Given the description of an element on the screen output the (x, y) to click on. 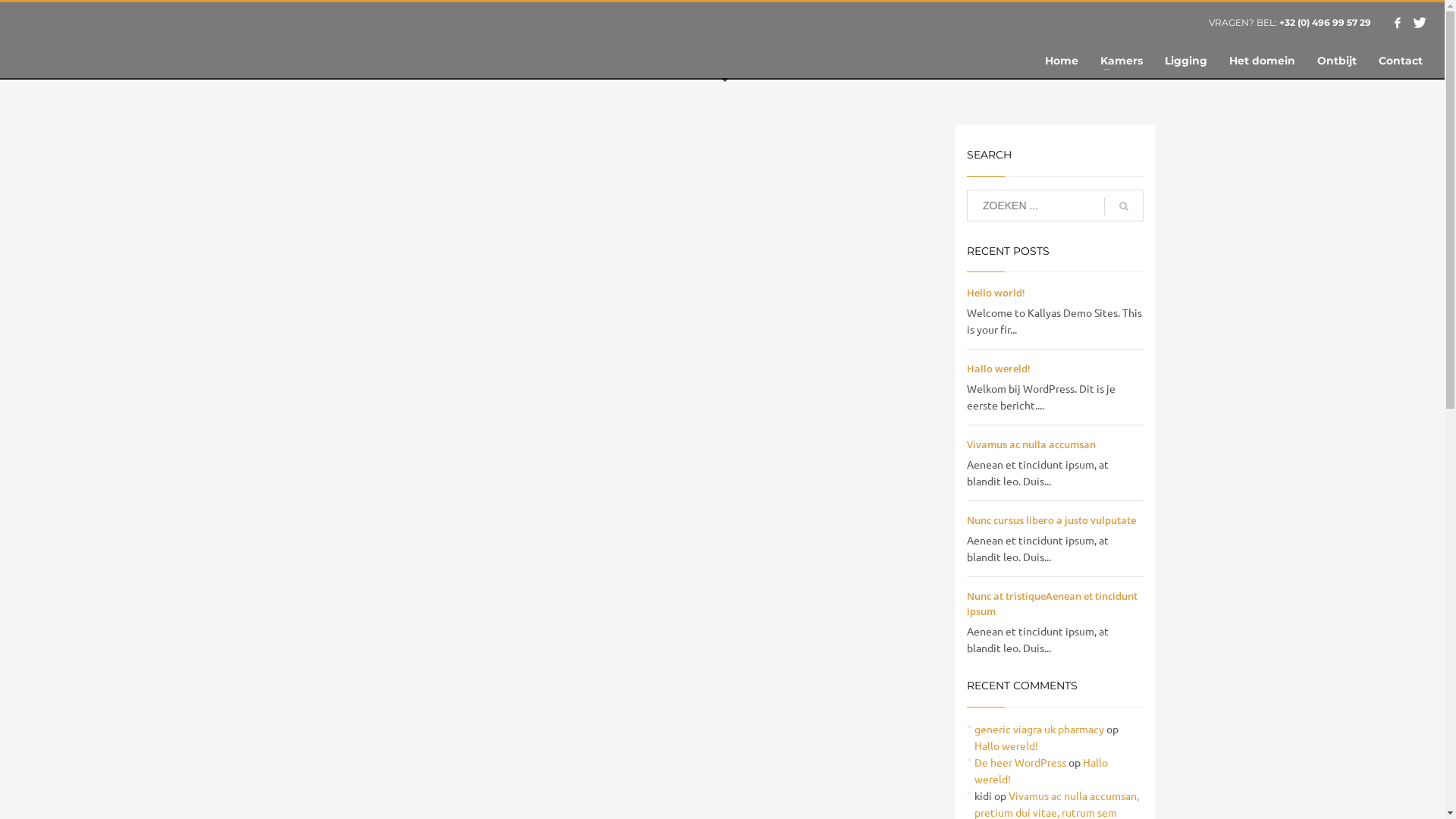
Kamers Element type: text (1121, 60)
Ligging Element type: text (1185, 60)
generic viagra uk pharmacy Element type: text (1039, 728)
De heer WordPress Element type: text (1020, 761)
Nunc at tristiqueAenean et tincidunt ipsum Element type: text (1051, 603)
Hello world! Element type: text (995, 292)
Home Element type: text (1061, 60)
Contact Element type: text (1400, 60)
Twitter Element type: hover (1419, 22)
Facebook Element type: hover (1397, 22)
+32 (0) 496 99 57 29 Element type: text (1324, 22)
Hallo wereld! Element type: text (998, 368)
Het domein Element type: text (1262, 60)
go Element type: text (1123, 206)
Nunc cursus libero a justo vulputate Element type: text (1050, 520)
Vivamus ac nulla accumsan Element type: text (1030, 444)
Hallo wereld! Element type: text (1040, 770)
Ontbijt Element type: text (1336, 60)
Hallo wereld! Element type: text (1006, 745)
